Given the description of an element on the screen output the (x, y) to click on. 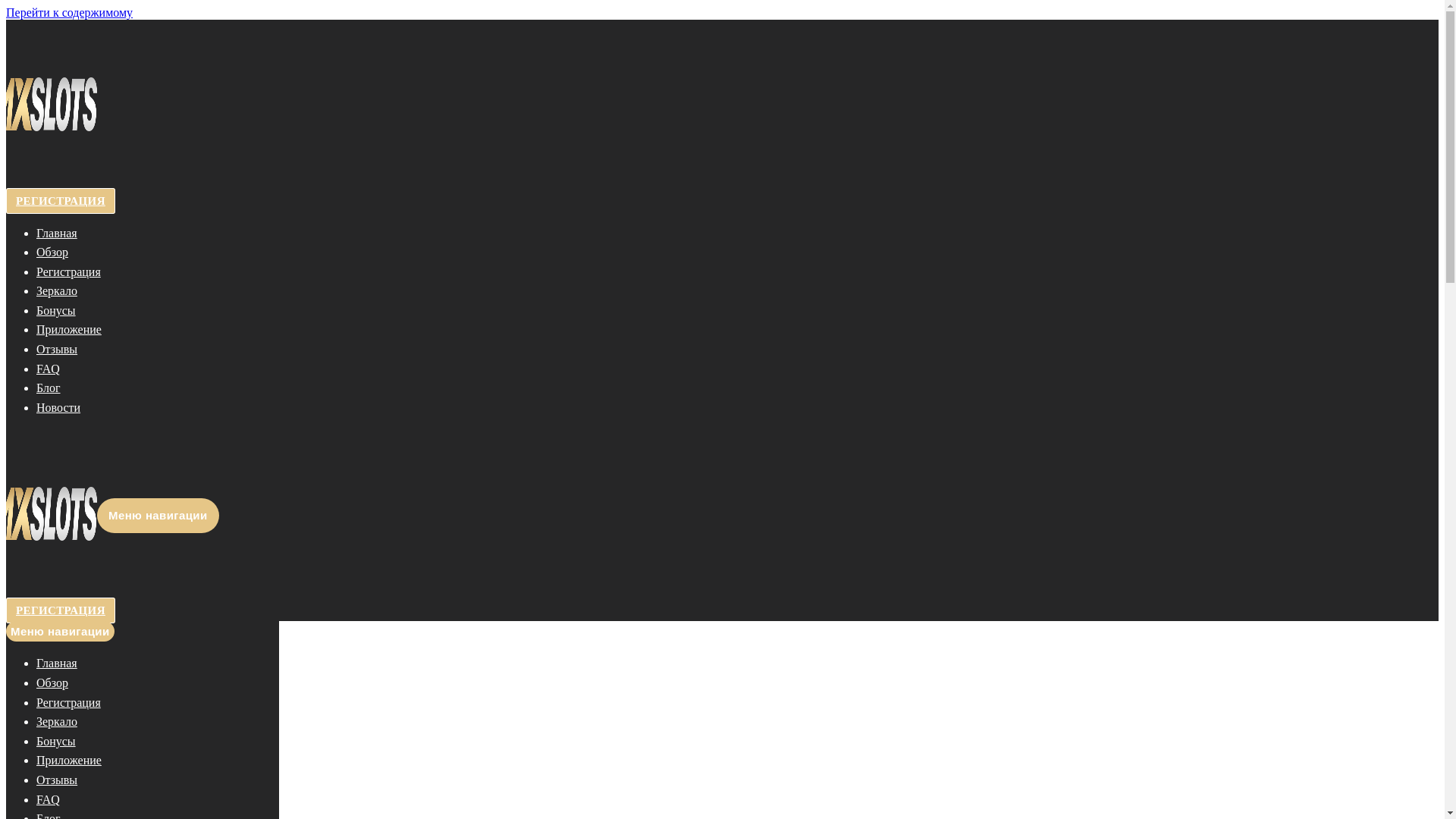
1xslots casino Element type: hover (51, 176)
FAQ Element type: text (47, 368)
FAQ Element type: text (47, 799)
1xslots casino Element type: hover (51, 586)
